Given the description of an element on the screen output the (x, y) to click on. 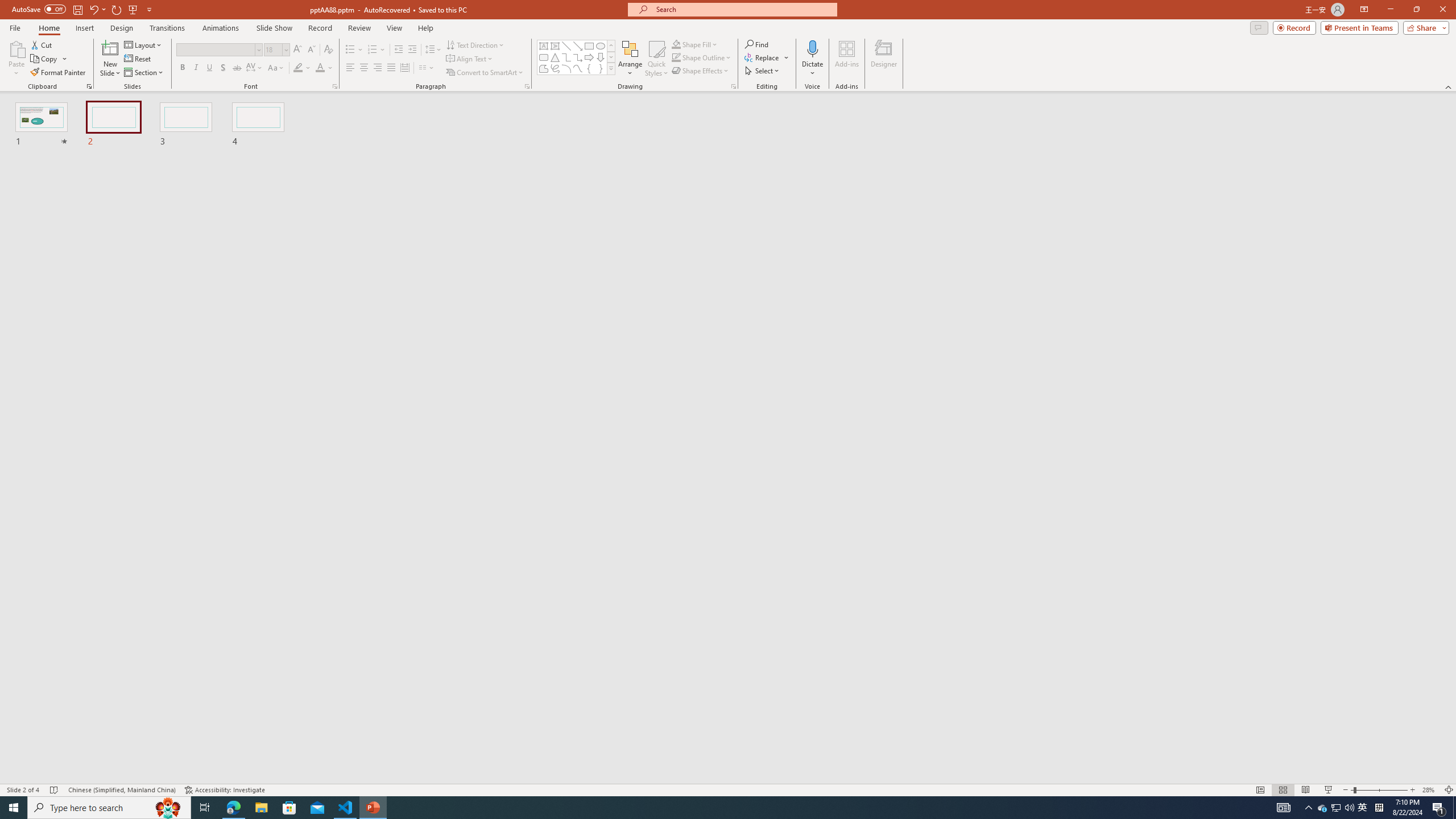
Change Case (276, 67)
Format Object... (733, 85)
Freeform: Shape (543, 68)
Bold (182, 67)
Rectangle: Rounded Corners (543, 57)
